Given the description of an element on the screen output the (x, y) to click on. 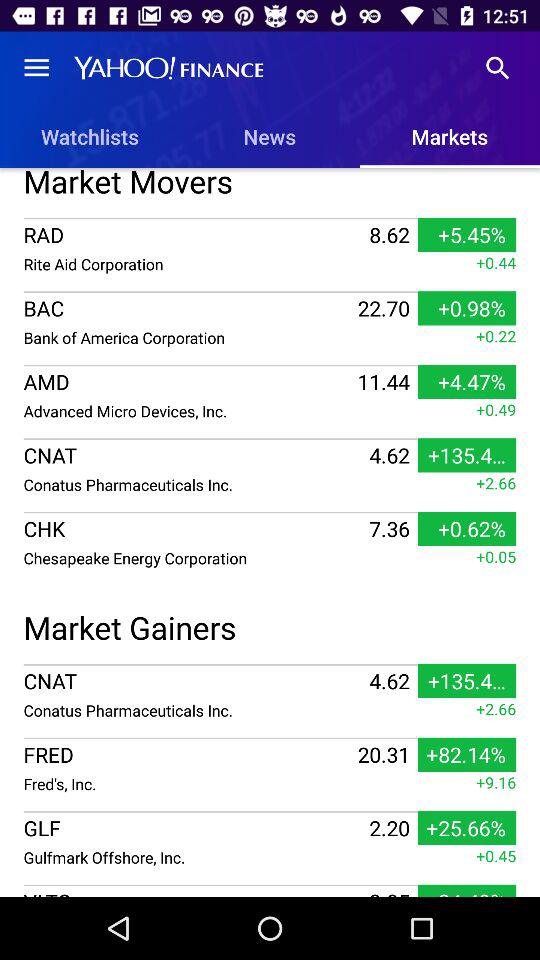
turn off item to the right of 20.31 (496, 782)
